Given the description of an element on the screen output the (x, y) to click on. 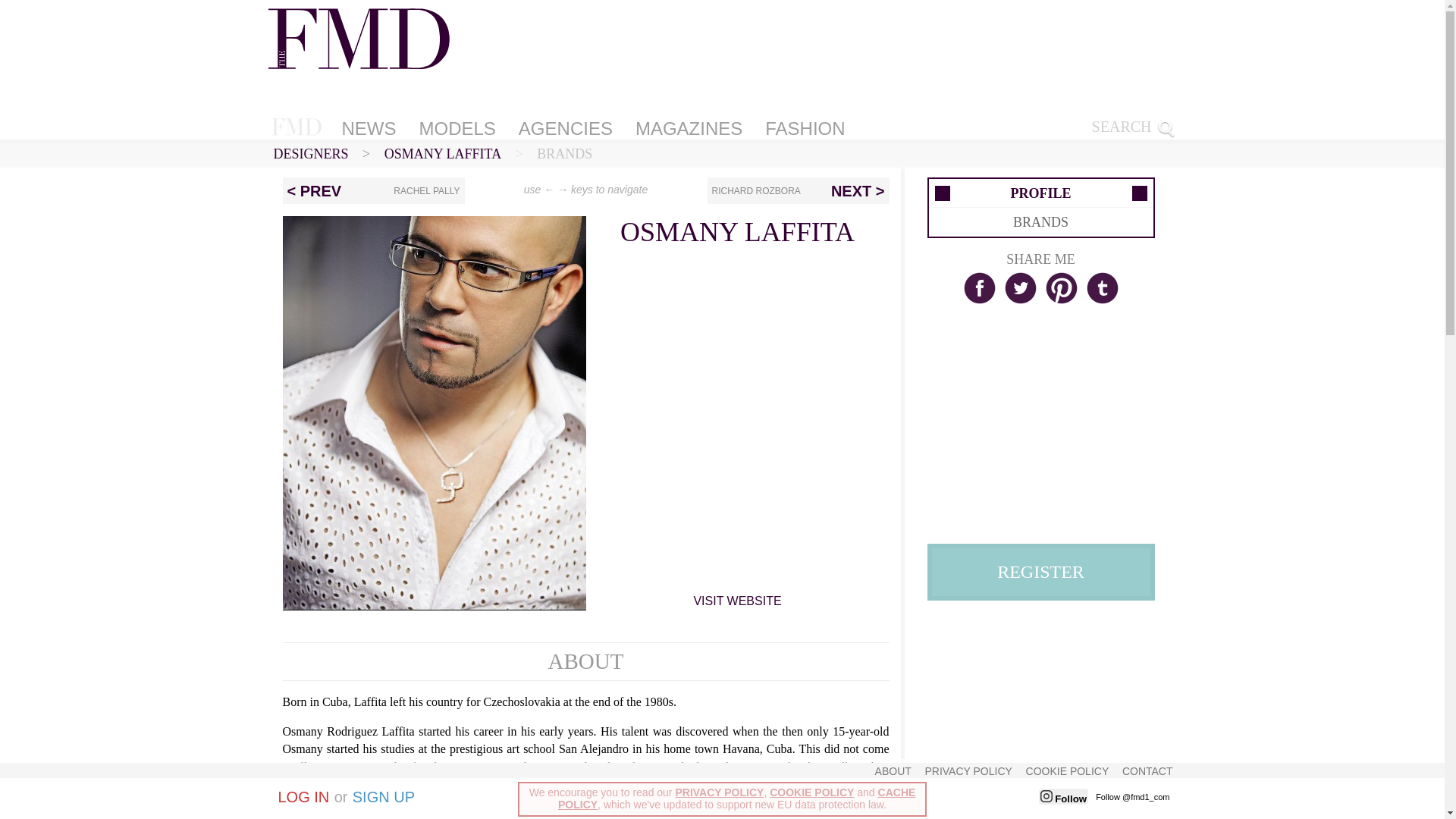
FASHION (804, 128)
NEWS (367, 128)
OSMANY LAFFITA (442, 153)
BRANDS (564, 153)
MAGAZINES (688, 128)
MODELS (456, 128)
DESIGNERS (310, 153)
AGENCIES (565, 128)
3rd party ad content (1044, 426)
3rd party ad content (1044, 714)
